Given the description of an element on the screen output the (x, y) to click on. 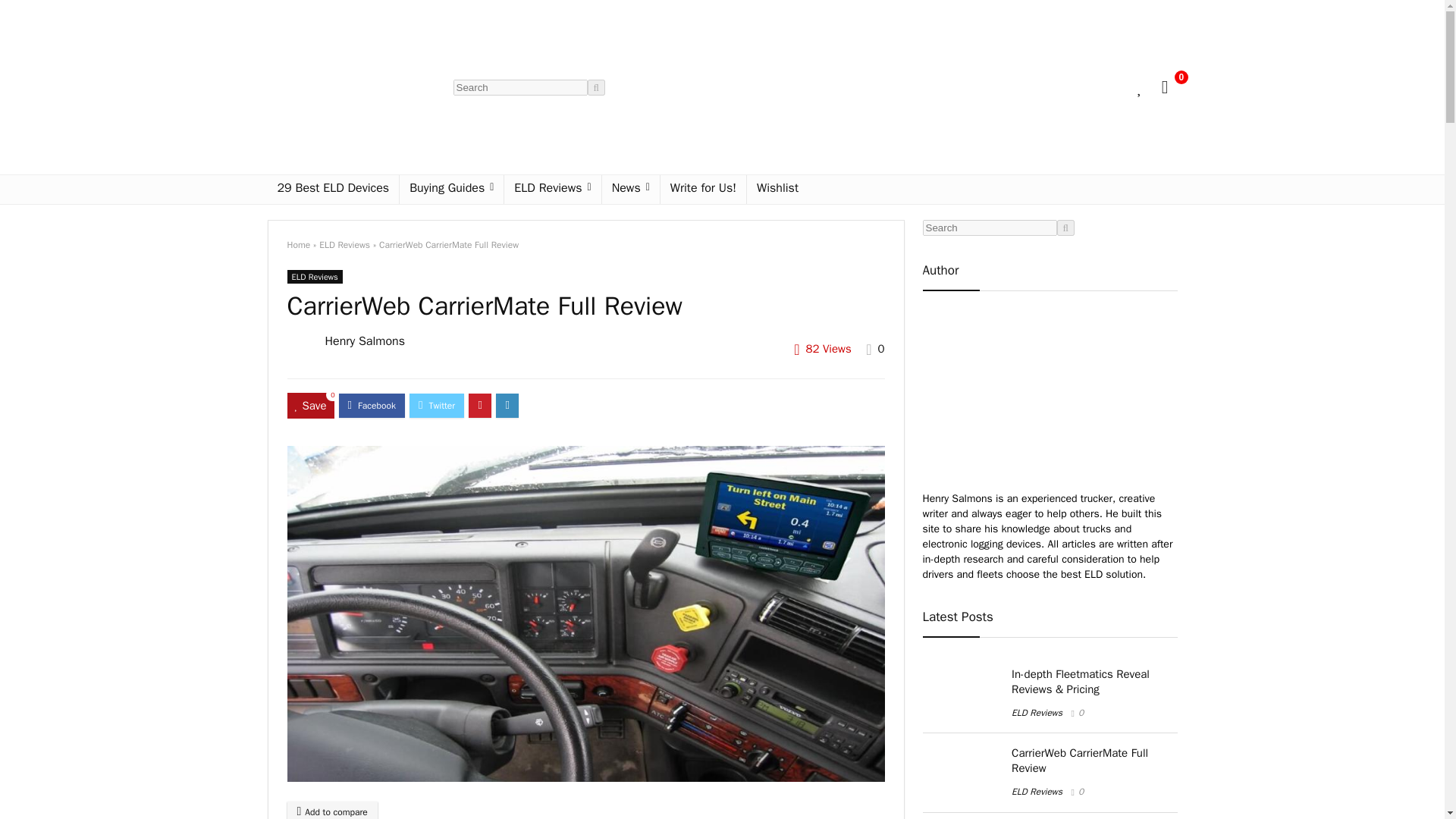
ELD Reviews (314, 276)
Home (298, 244)
News (630, 189)
View all posts in ELD Reviews (314, 276)
ELD Reviews (343, 244)
29 Best ELD Devices (332, 189)
Buying Guides (450, 189)
Wishlist (777, 189)
Write for Us! (703, 189)
Henry Salmons (364, 340)
